Given the description of an element on the screen output the (x, y) to click on. 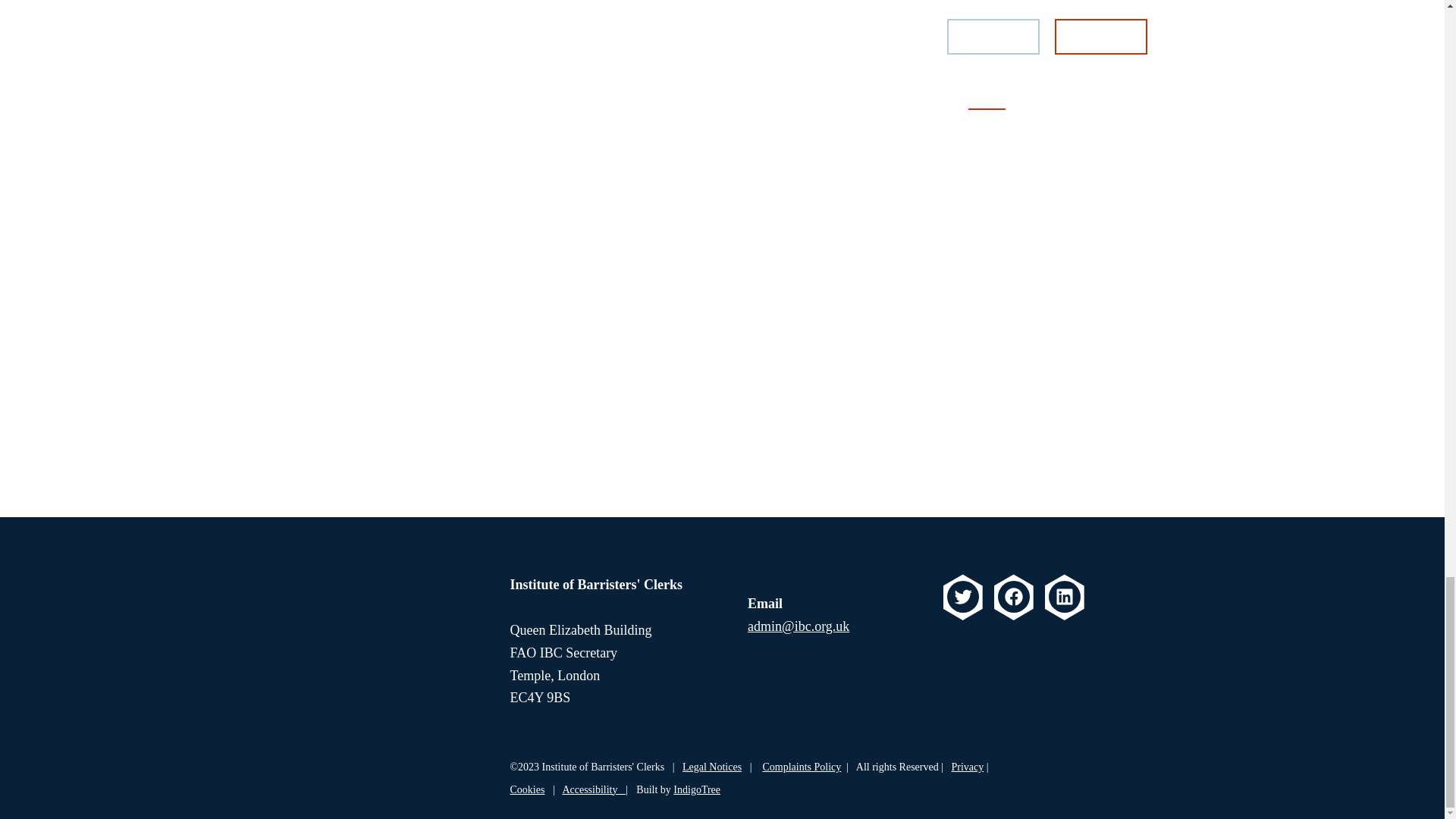
Facebook (1013, 596)
Twitter (962, 596)
Complaints Policy (801, 767)
Accessibility    (594, 789)
Privacy (967, 767)
Cookies (526, 789)
Legal Notices (711, 767)
LinkedIn (1064, 596)
